Given the description of an element on the screen output the (x, y) to click on. 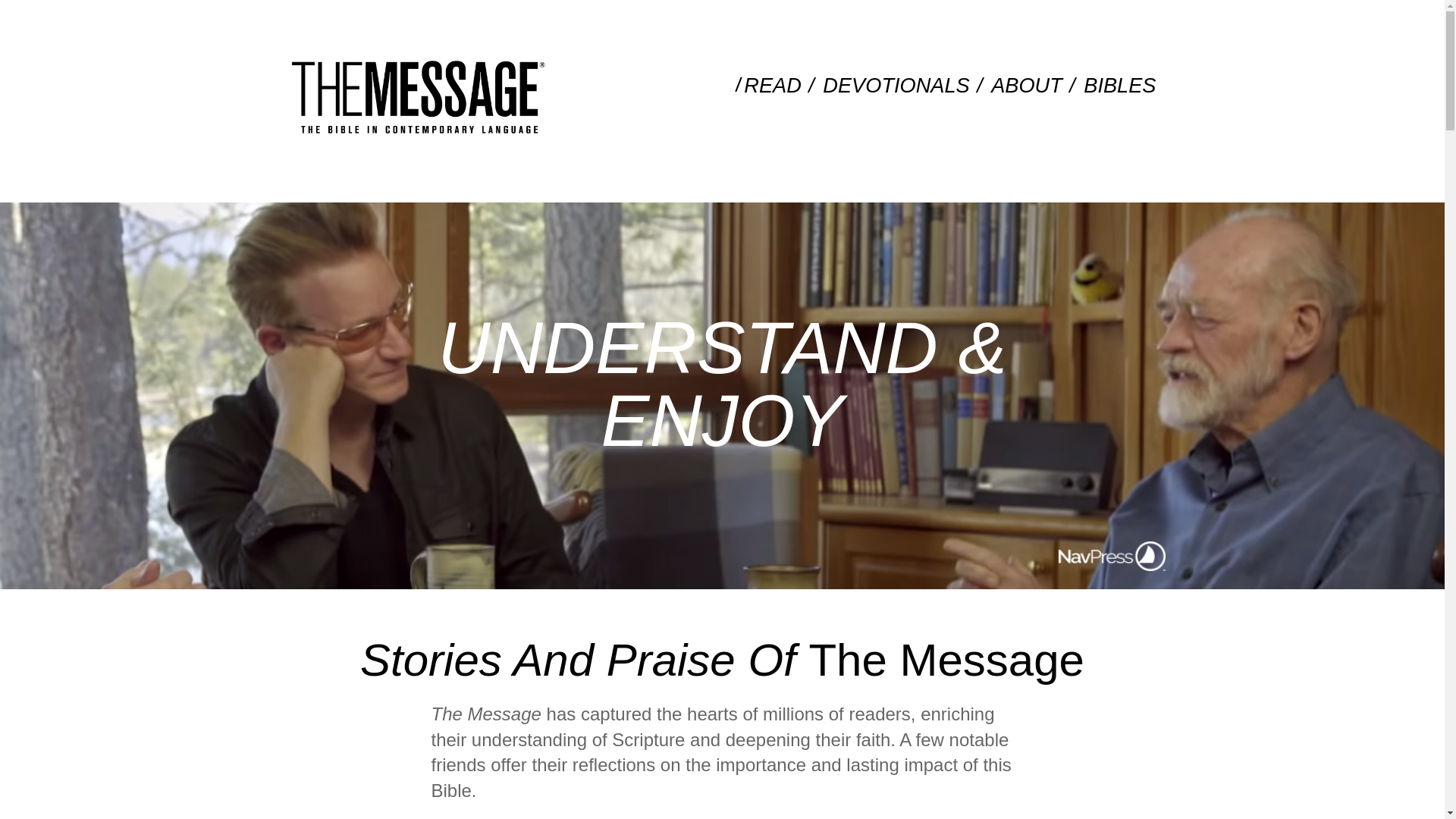
DEVOTIONALS (895, 85)
ABOUT (1026, 85)
BIBLES (1119, 85)
READ (772, 85)
